Given the description of an element on the screen output the (x, y) to click on. 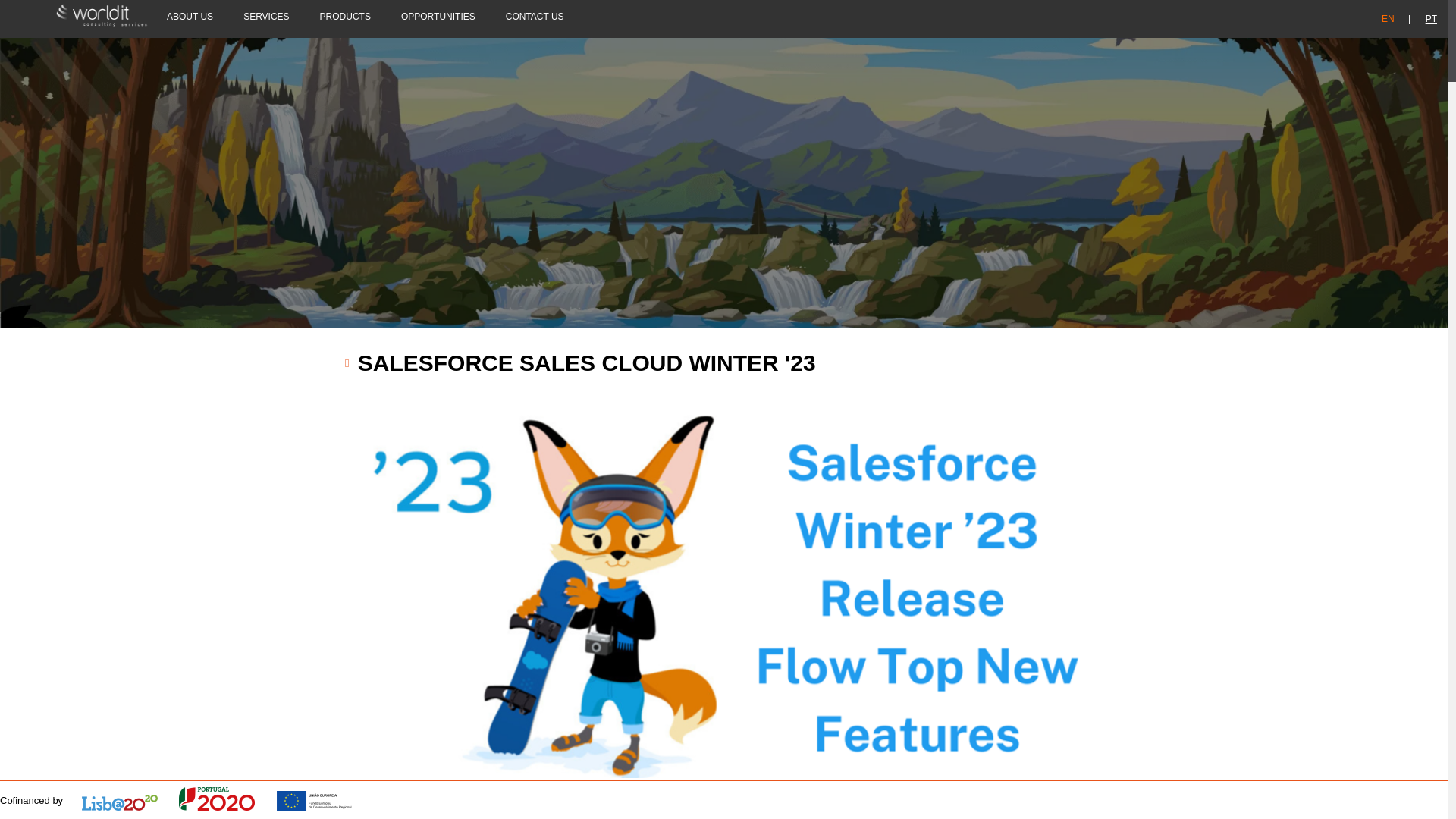
SERVICES (266, 16)
ABOUT US (189, 16)
